Given the description of an element on the screen output the (x, y) to click on. 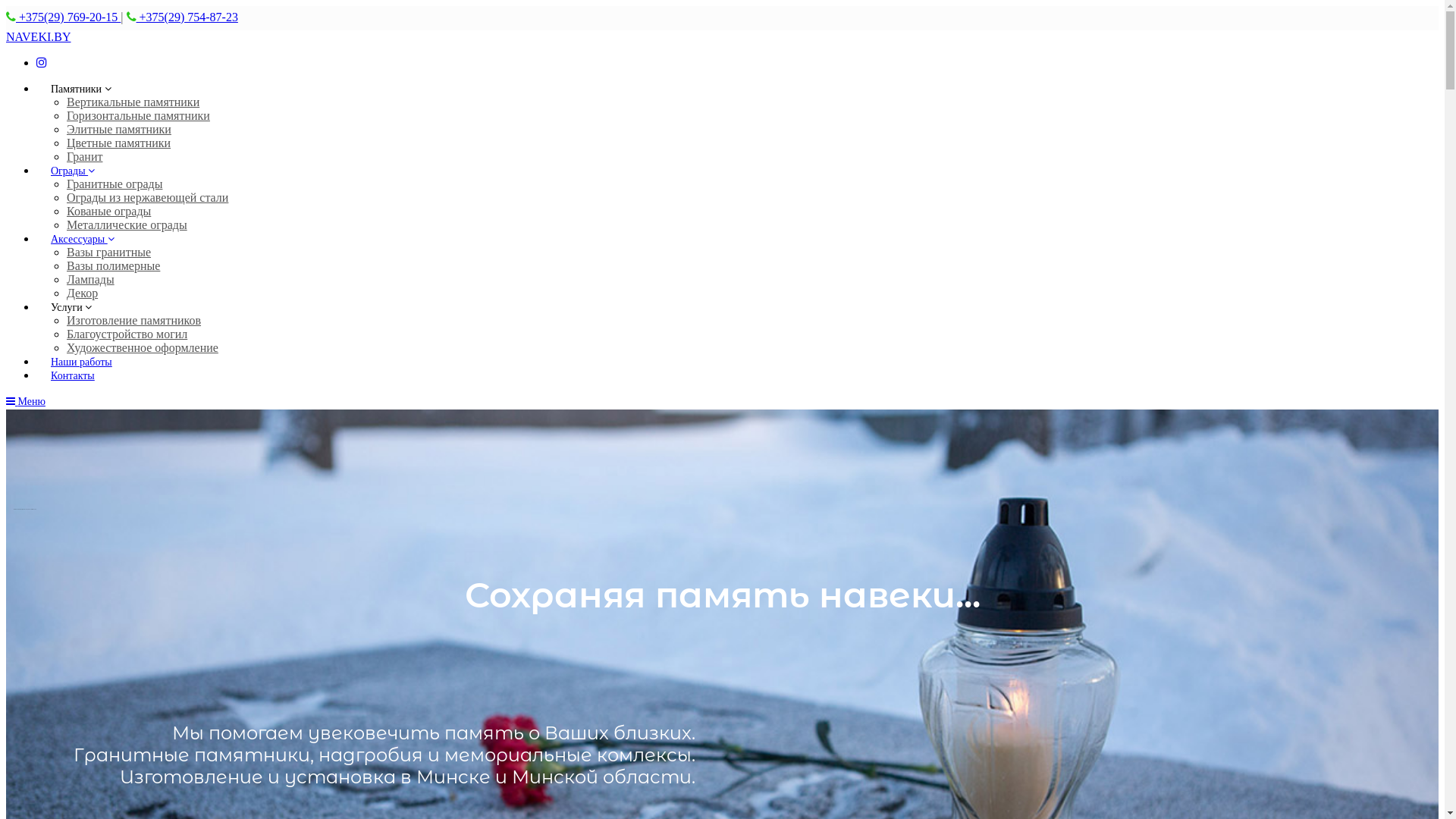
+375(29) 754-87-23 Element type: text (187, 16)
NAVEKI.BY Element type: text (38, 36)
+375(29) 769-20-15 Element type: text (67, 16)
